Given the description of an element on the screen output the (x, y) to click on. 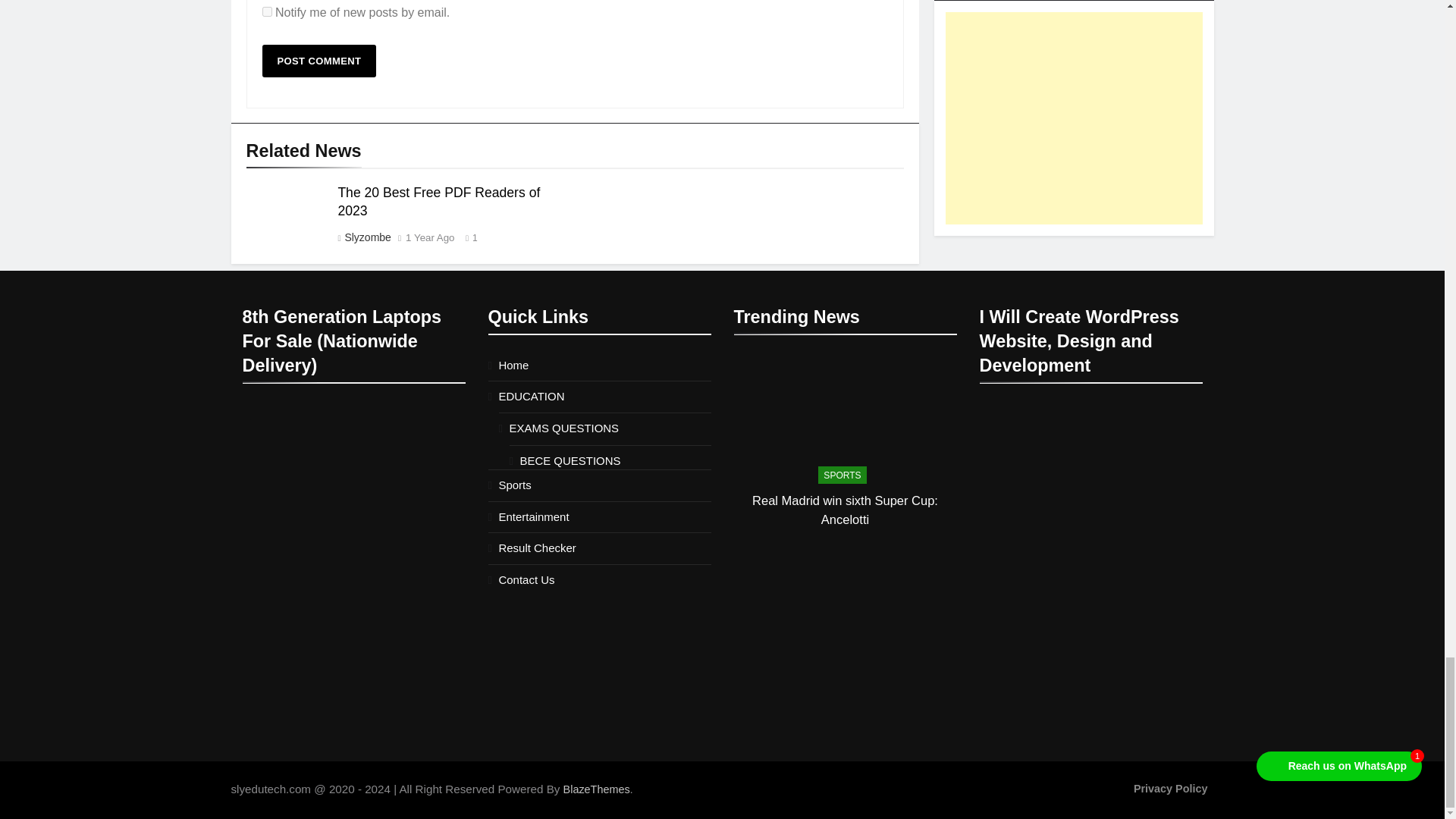
The 20 Best Free PDF Readers of 2023 (438, 201)
Post Comment (319, 60)
subscribe (267, 11)
Slyzombe (366, 236)
Post Comment (319, 60)
